Given the description of an element on the screen output the (x, y) to click on. 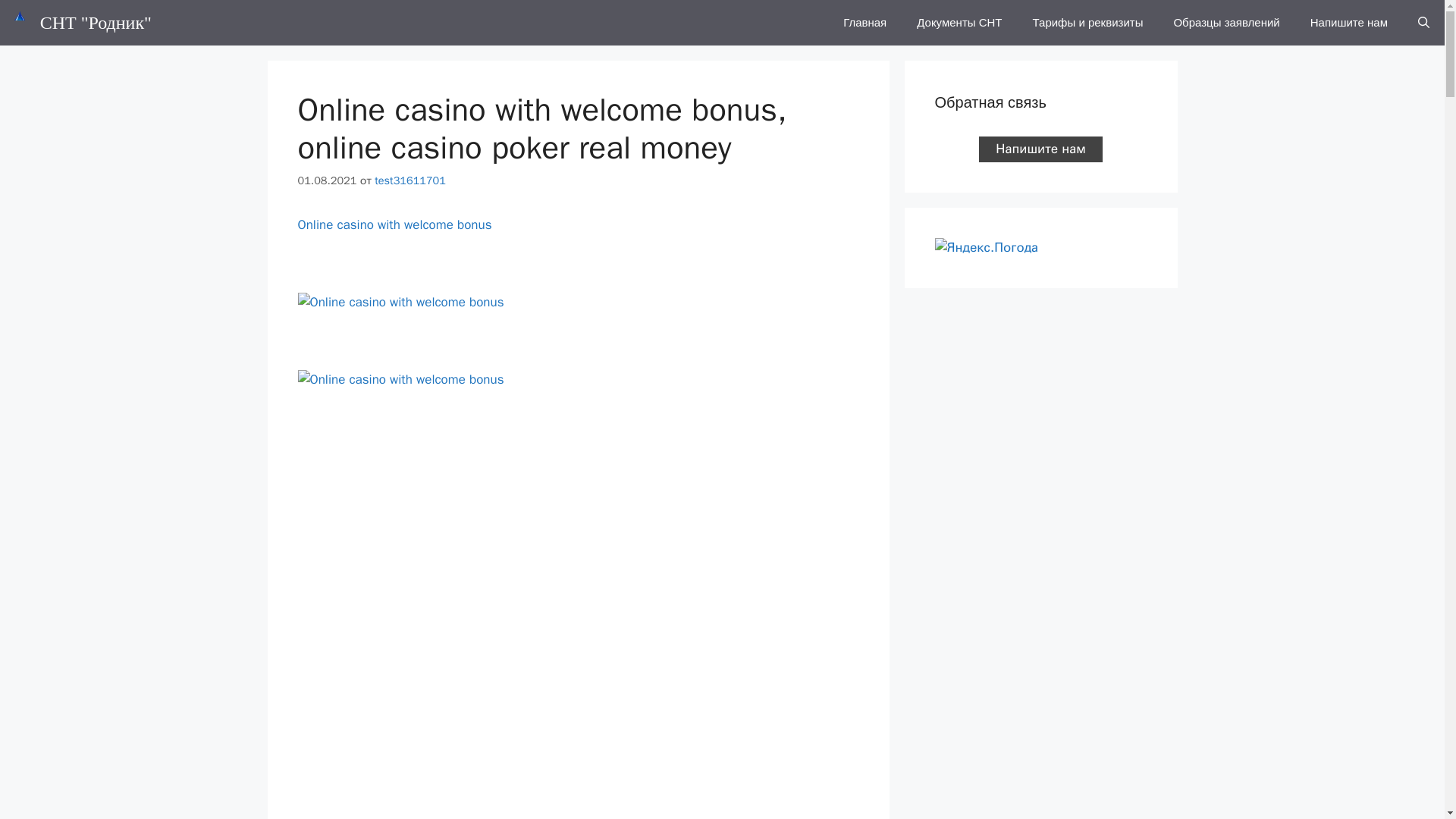
test31611701 (409, 180)
Online casino with welcome bonus (400, 302)
Online casino with welcome bonus (394, 224)
Online casino with welcome bonus (400, 379)
